Given the description of an element on the screen output the (x, y) to click on. 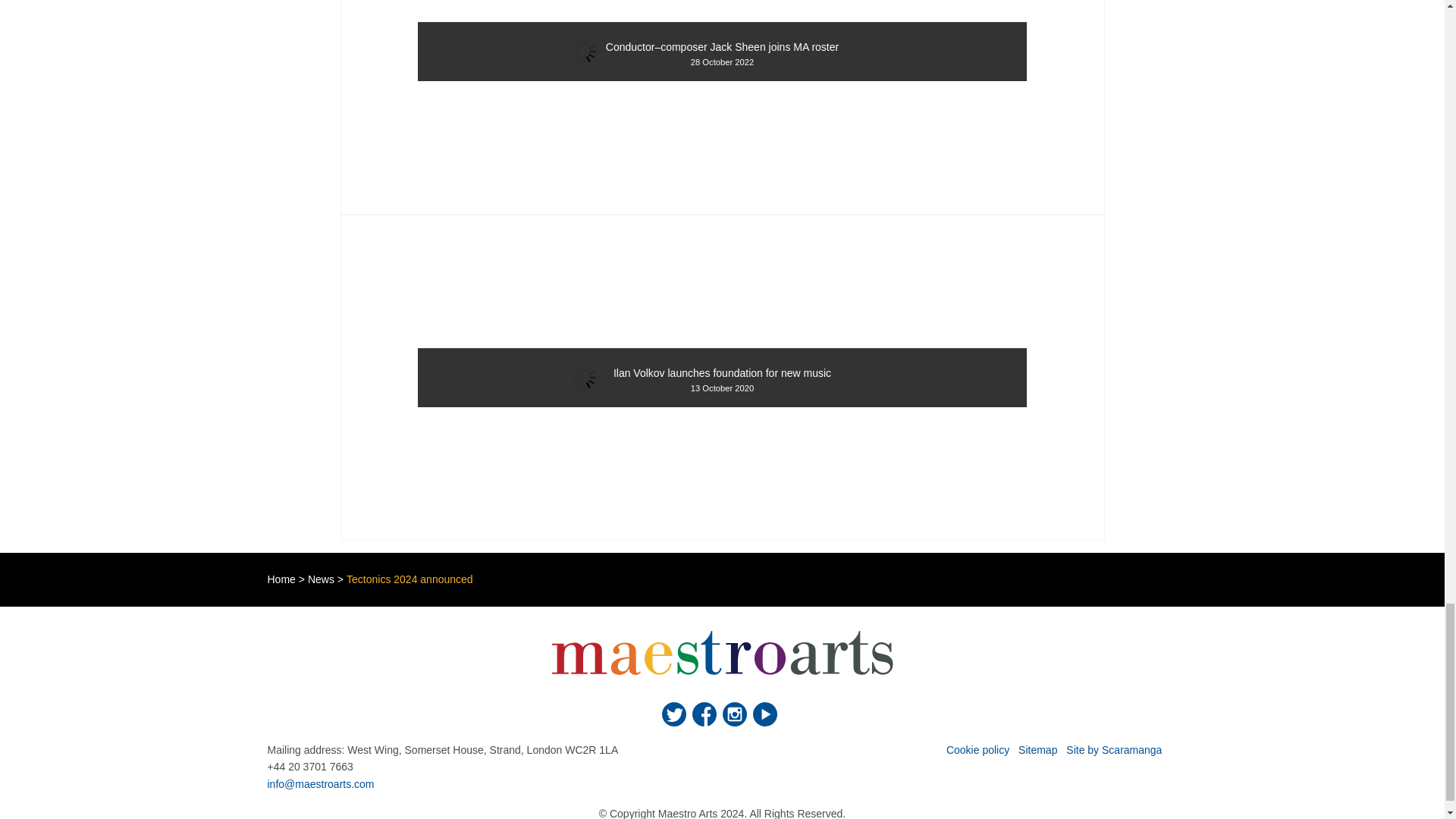
Site by Scaramanga (1113, 749)
Sitemap (1037, 749)
Cookie policy (977, 749)
News (320, 579)
Home (280, 579)
